Given the description of an element on the screen output the (x, y) to click on. 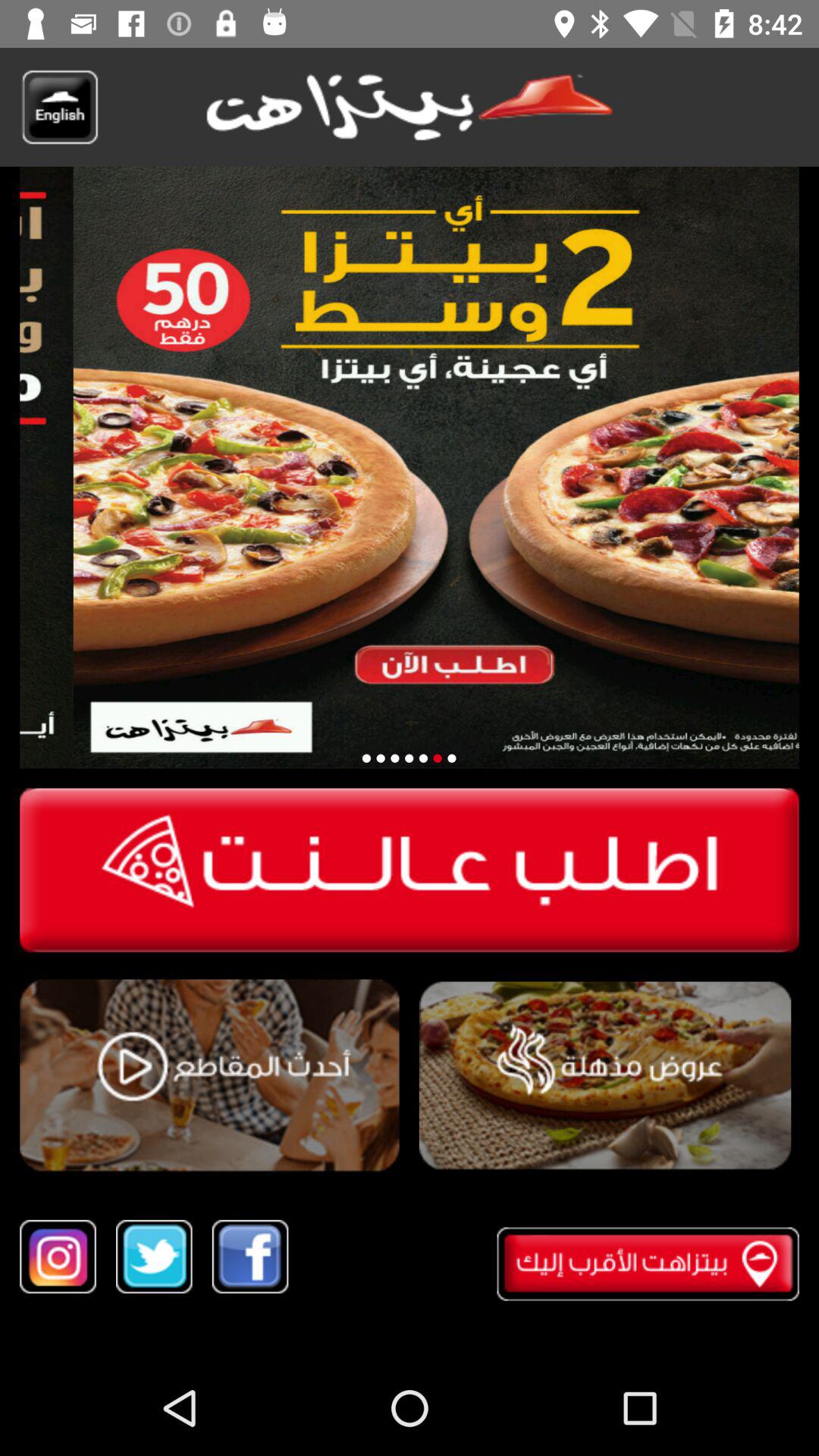
list menu (605, 1075)
